Given the description of an element on the screen output the (x, y) to click on. 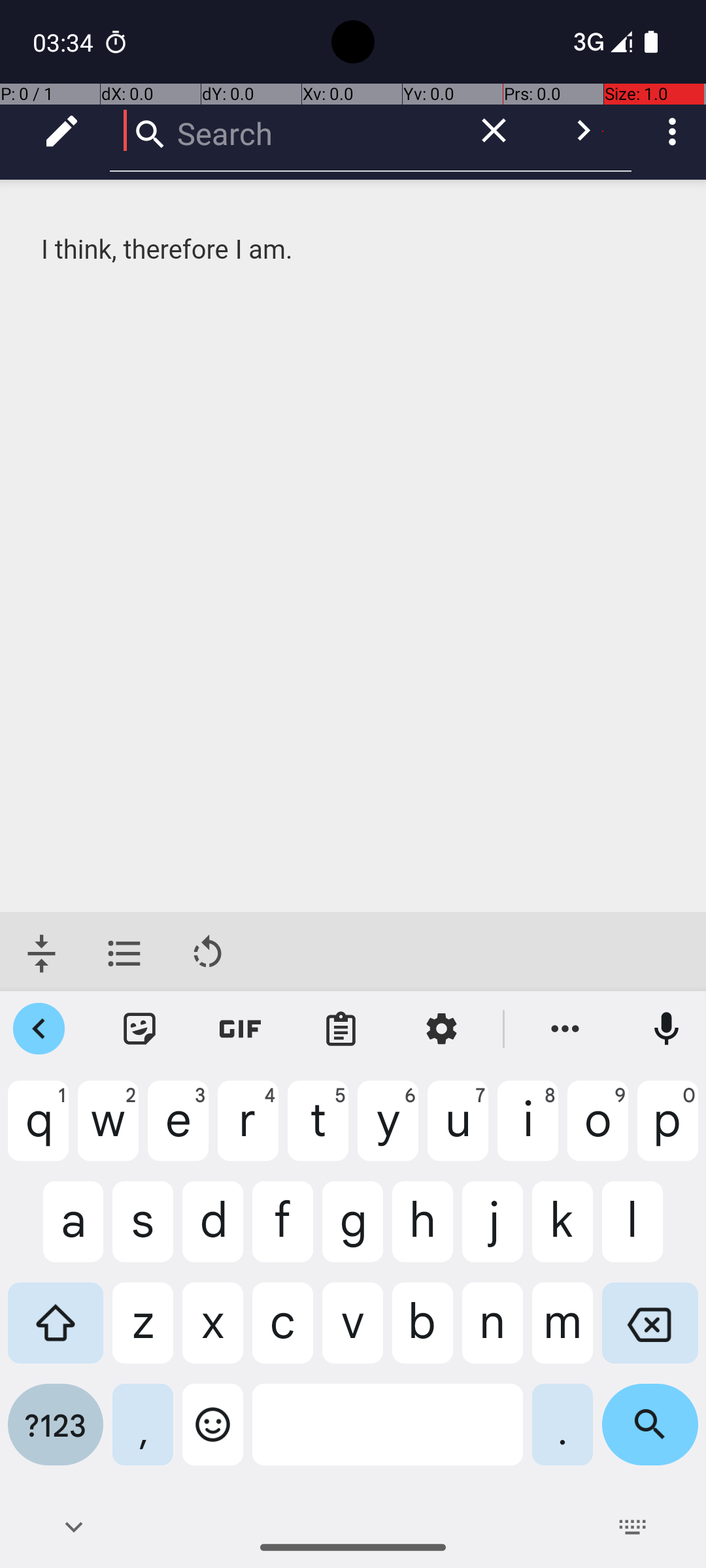
   Search Element type: android.widget.AutoCompleteTextView (280, 130)
Submit query Element type: android.widget.ImageView (583, 130)
I think, therefore I am. Element type: android.widget.TextView (354, 249)
03:34 Element type: android.widget.TextView (64, 41)
